Given the description of an element on the screen output the (x, y) to click on. 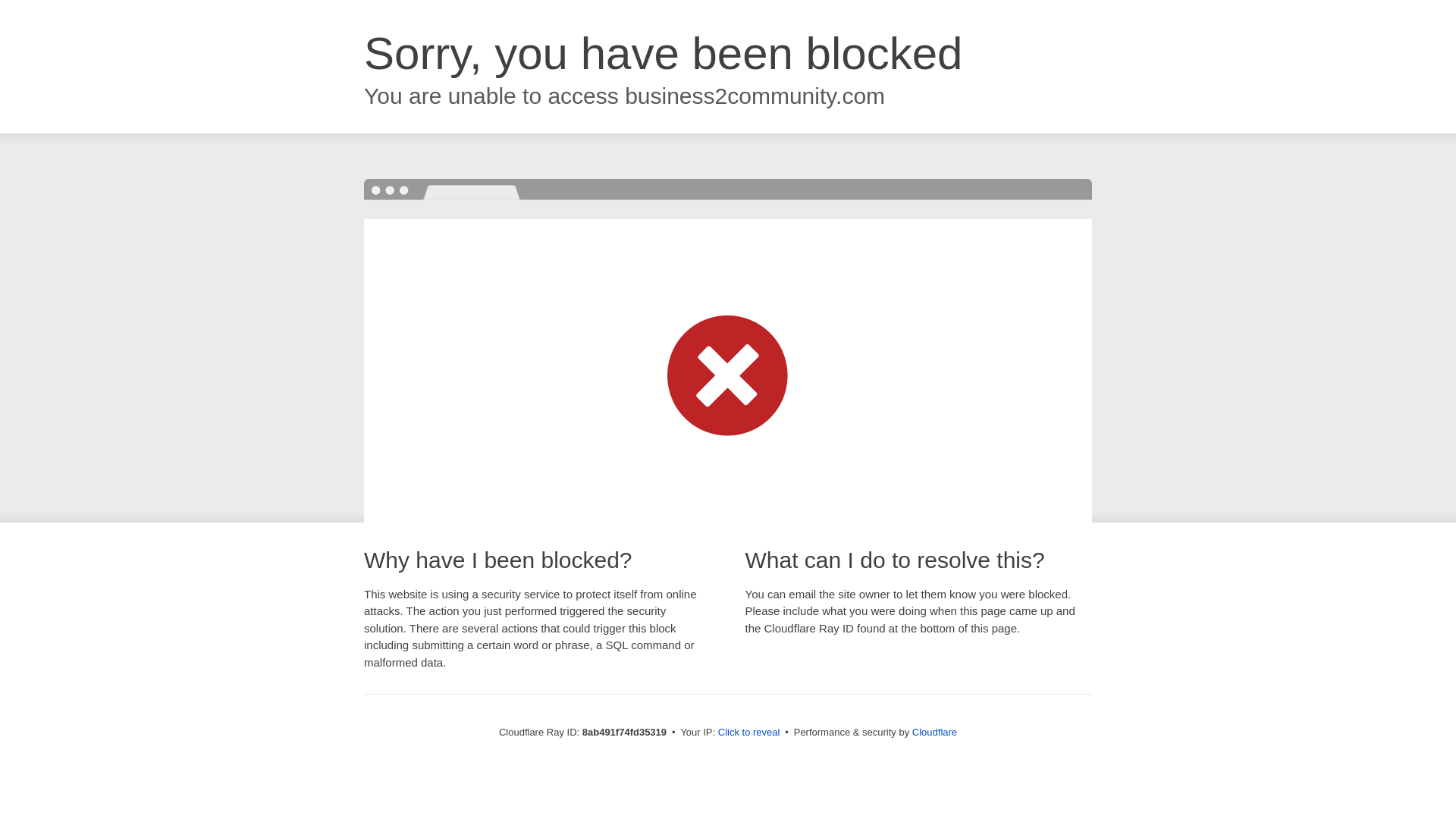
Click to reveal (748, 732)
Cloudflare (934, 731)
